Given the description of an element on the screen output the (x, y) to click on. 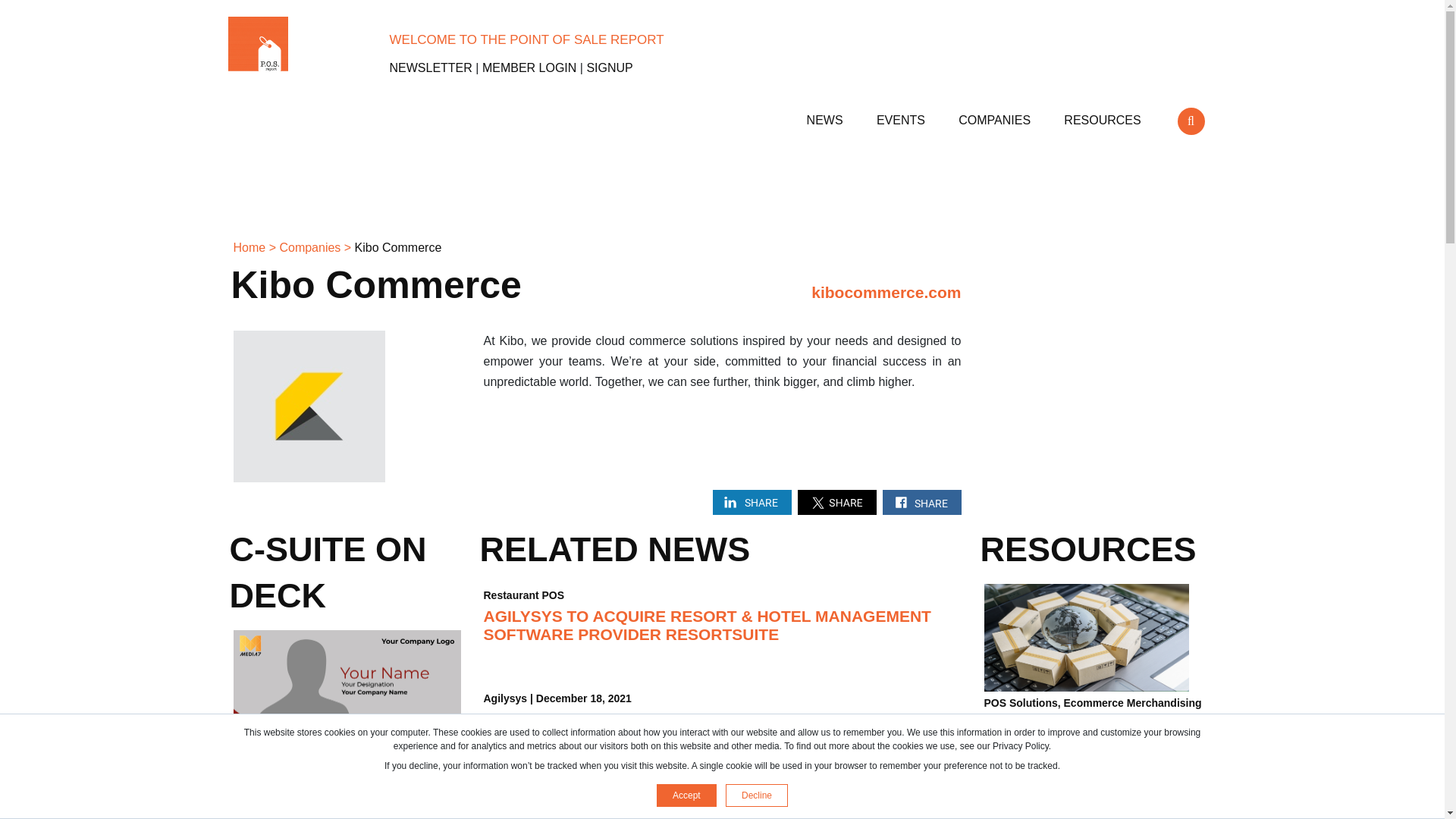
MEMBER LOGIN (528, 67)
Advertisement (721, 191)
RESOURCES (1104, 113)
NEWS (825, 113)
NEWSLETTER (430, 67)
Advertisement (1094, 360)
SIGNUP (608, 67)
COMPANIES (996, 113)
EVENTS (901, 113)
